Given the description of an element on the screen output the (x, y) to click on. 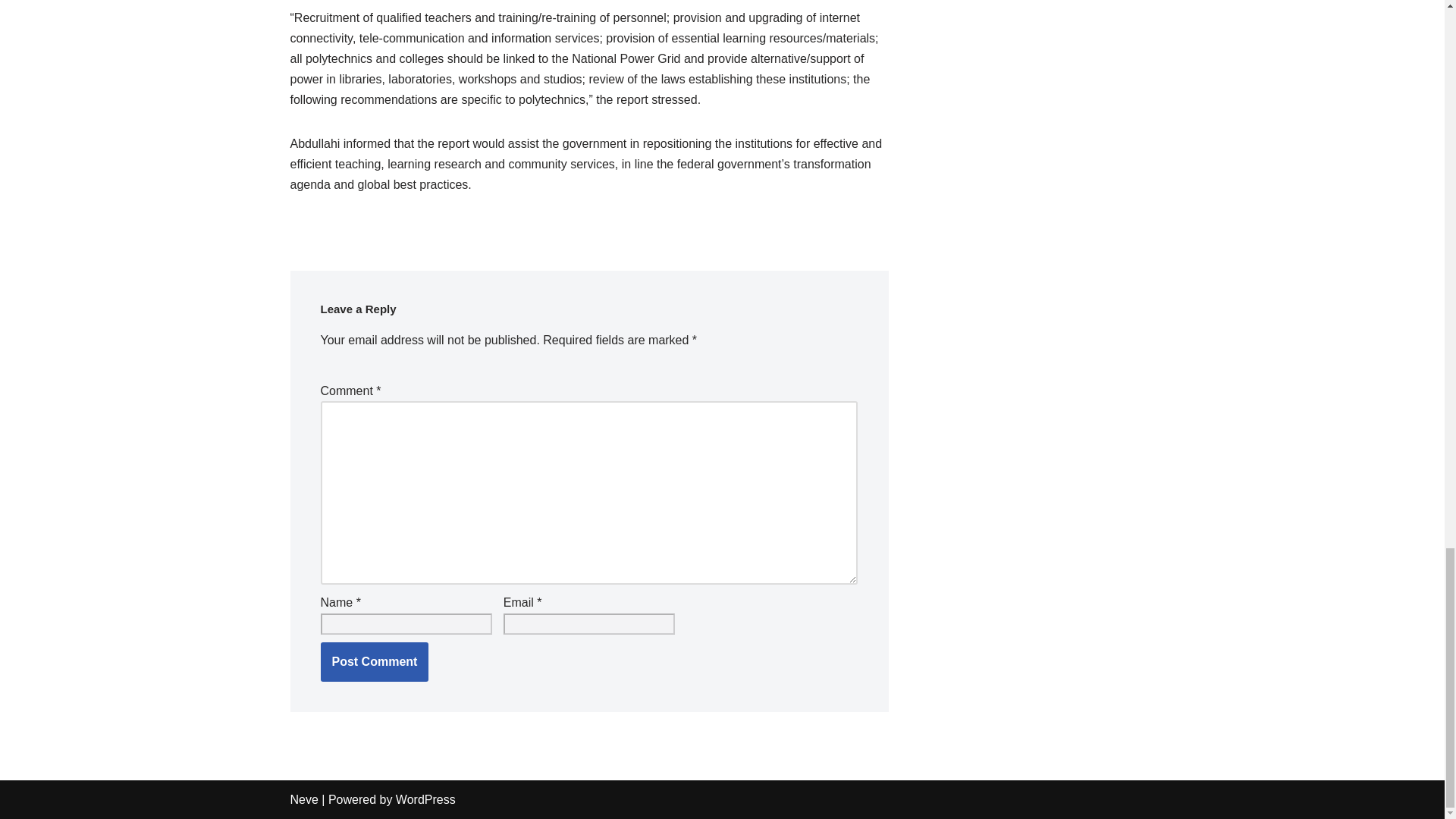
Post Comment (374, 661)
